Given the description of an element on the screen output the (x, y) to click on. 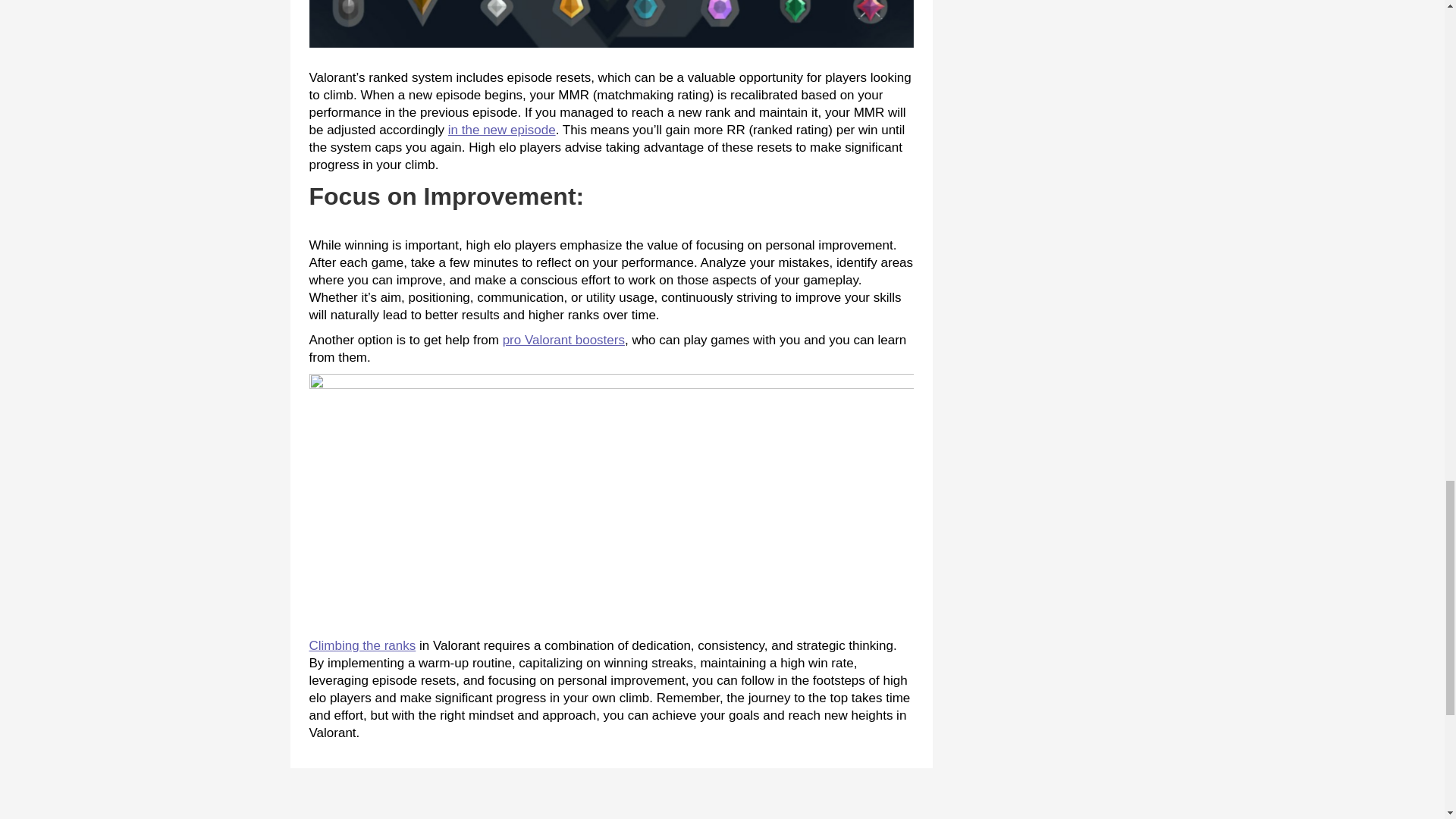
pro Valorant boosters (563, 339)
in the new episode (502, 129)
Climbing the ranks (362, 645)
